Given the description of an element on the screen output the (x, y) to click on. 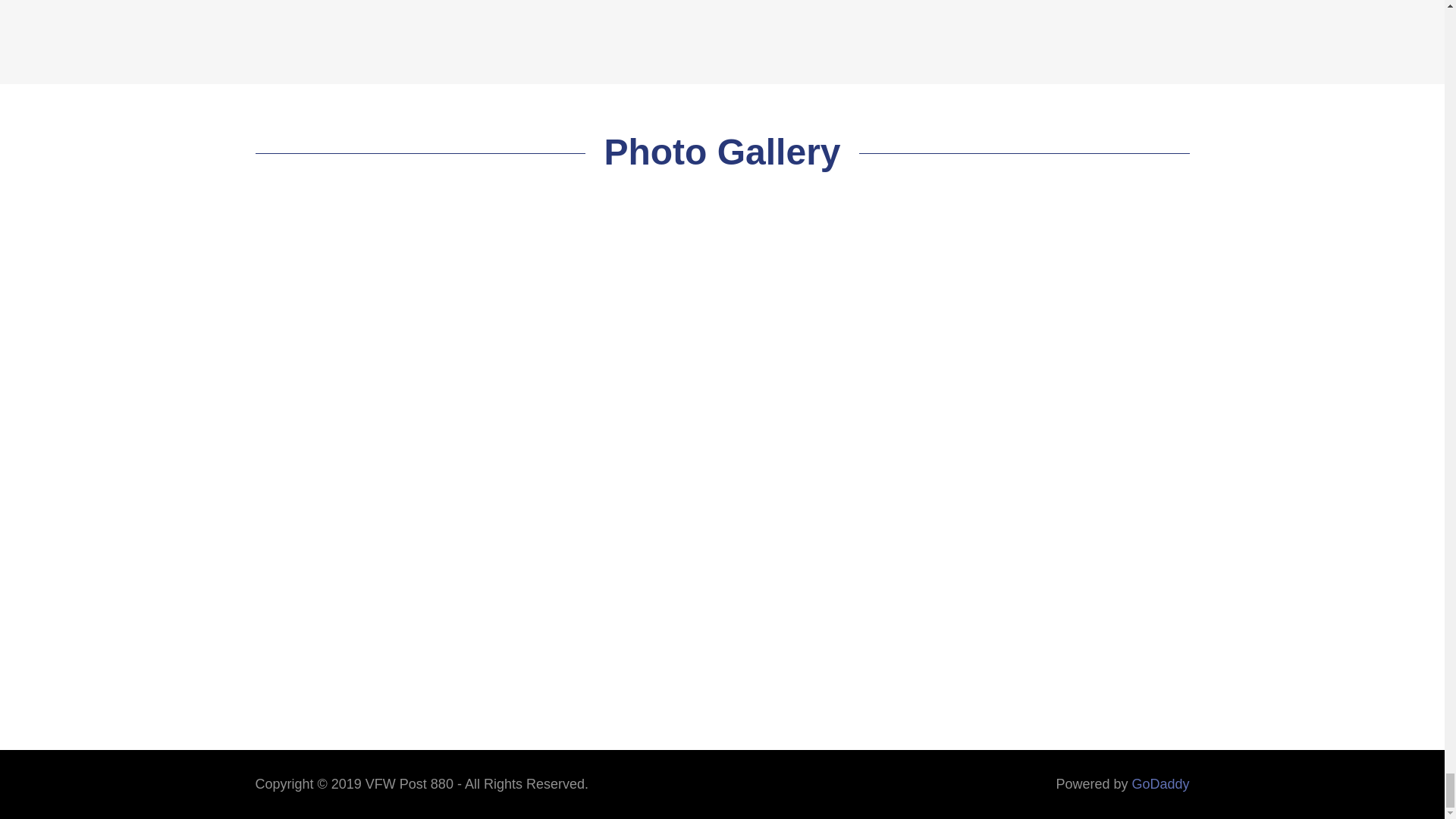
GoDaddy (1160, 783)
